Given the description of an element on the screen output the (x, y) to click on. 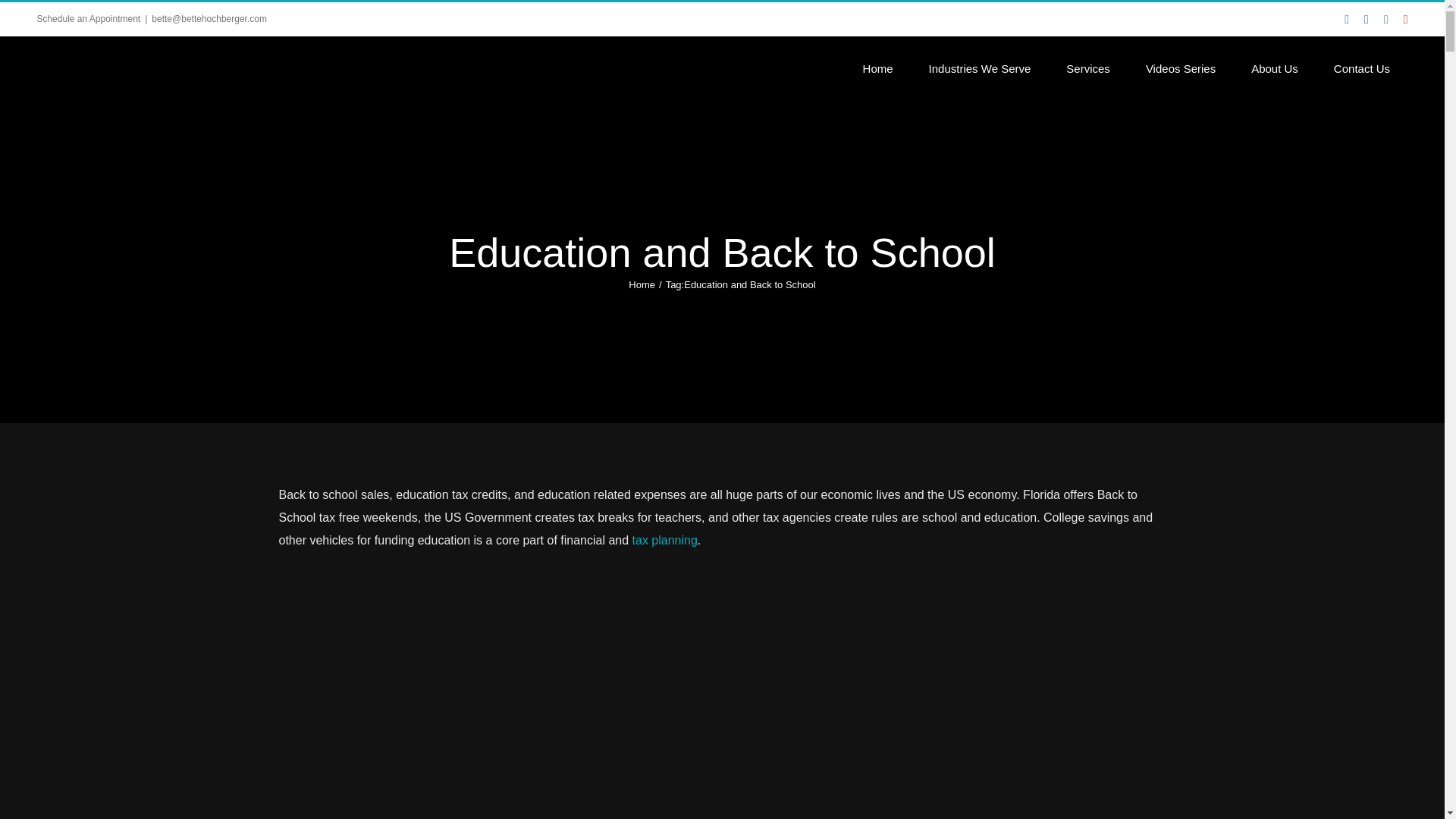
Home (877, 67)
About Us (1274, 67)
Schedule an Appointment (87, 18)
Services (1088, 67)
Industries We Serve (979, 67)
Videos Series (1179, 67)
